Given the description of an element on the screen output the (x, y) to click on. 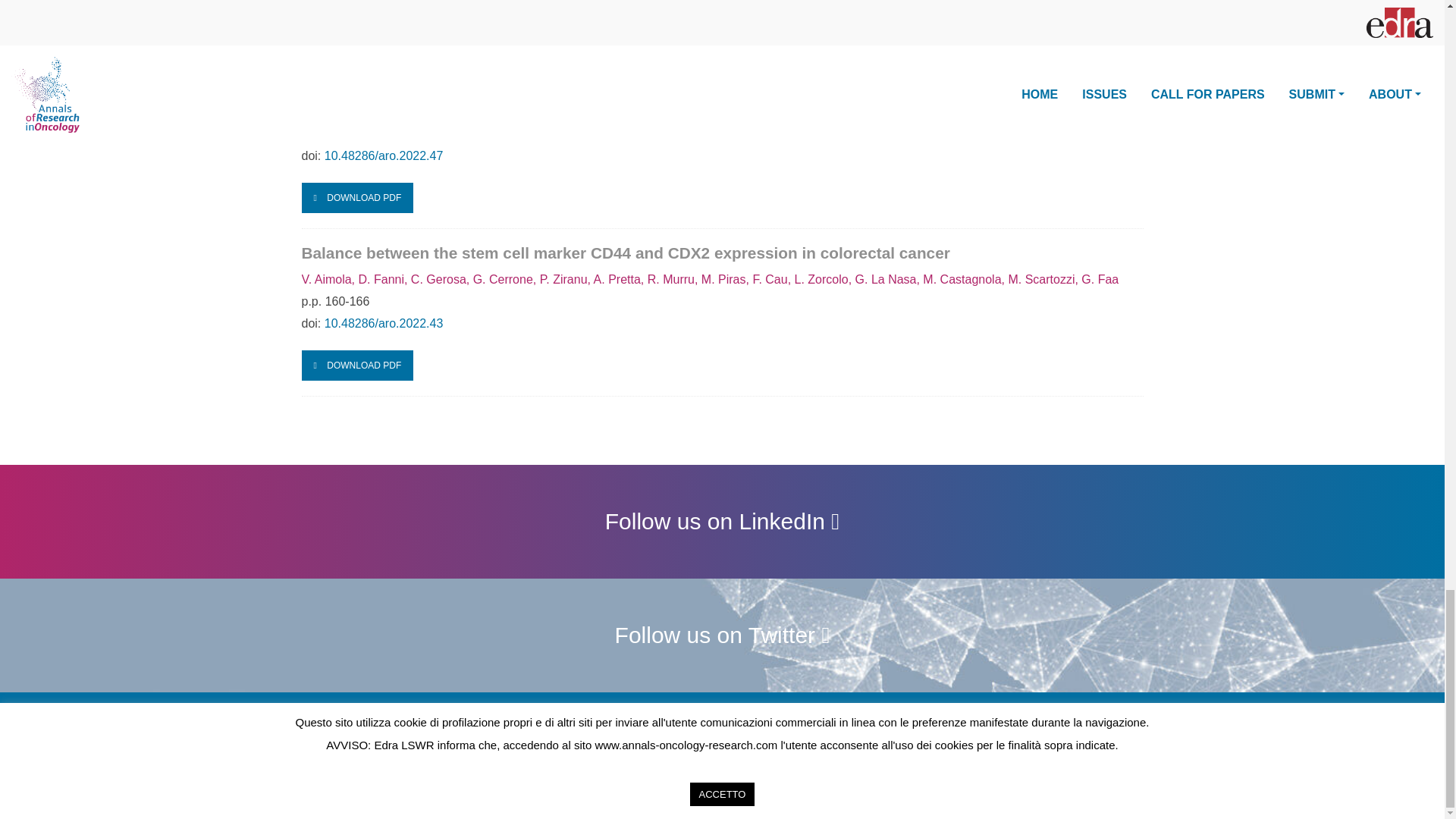
DOWNLOAD PDF (357, 197)
DOWNLOAD PDF (357, 12)
Hedgehog signaling pathways in multiple myeloma (492, 63)
